Given the description of an element on the screen output the (x, y) to click on. 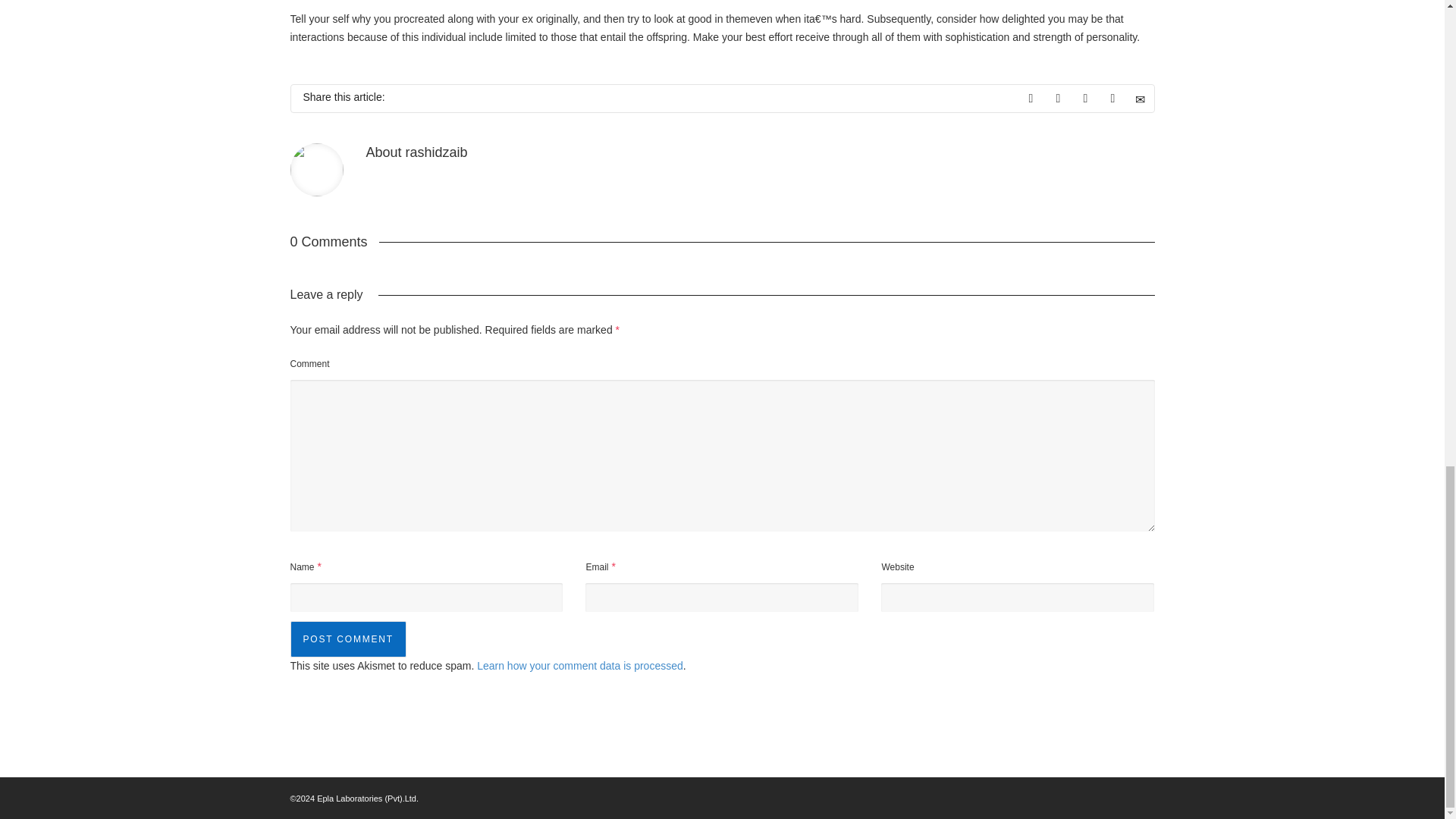
Post comment (347, 638)
